Given the description of an element on the screen output the (x, y) to click on. 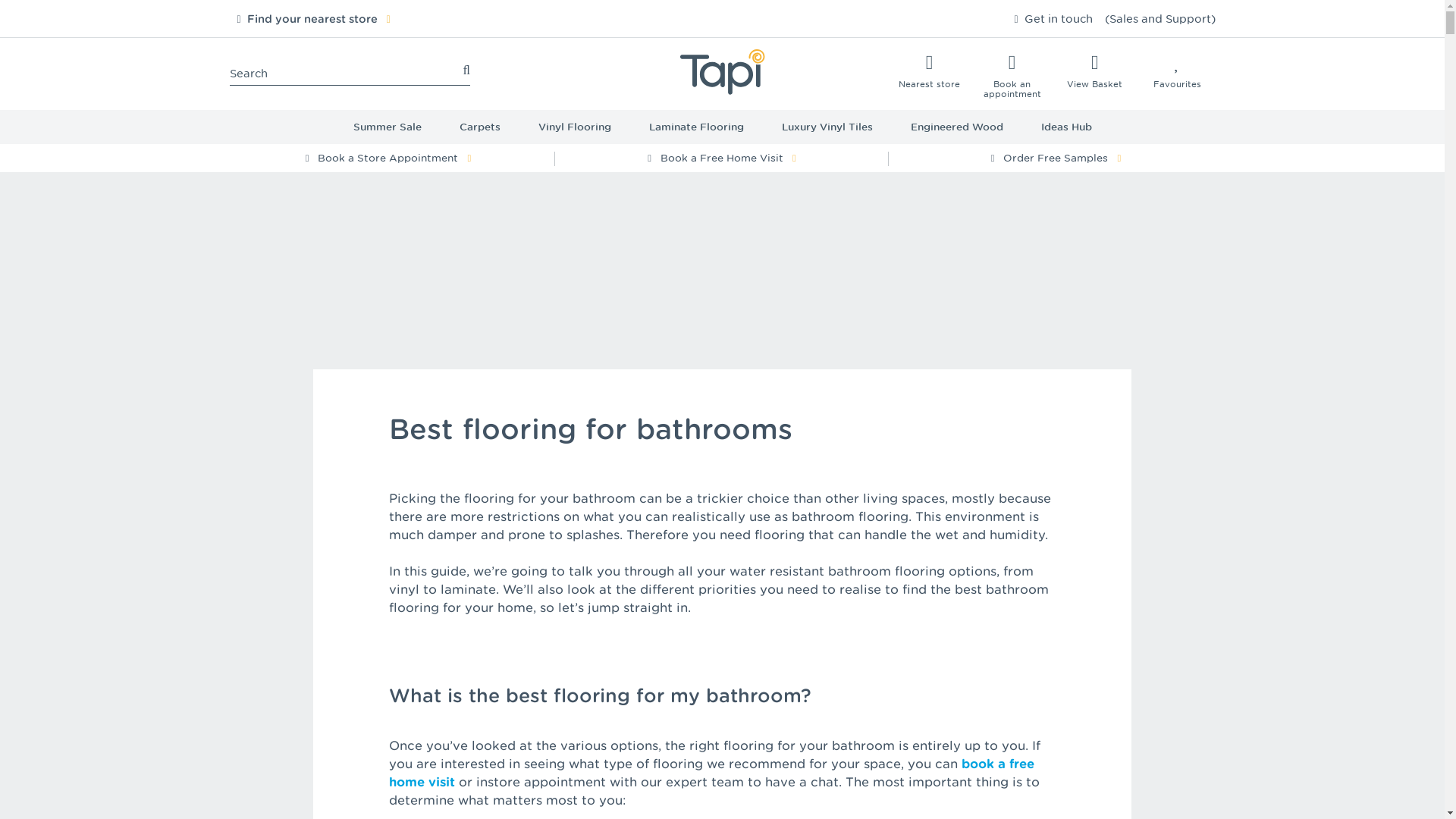
Book an appointment (1011, 76)
Find your nearest store (312, 19)
Nearest store (928, 71)
View Basket (1094, 71)
Favourites (1177, 71)
Summer Sale (386, 126)
Carpets (478, 126)
Get in touch (1057, 19)
